Given the description of an element on the screen output the (x, y) to click on. 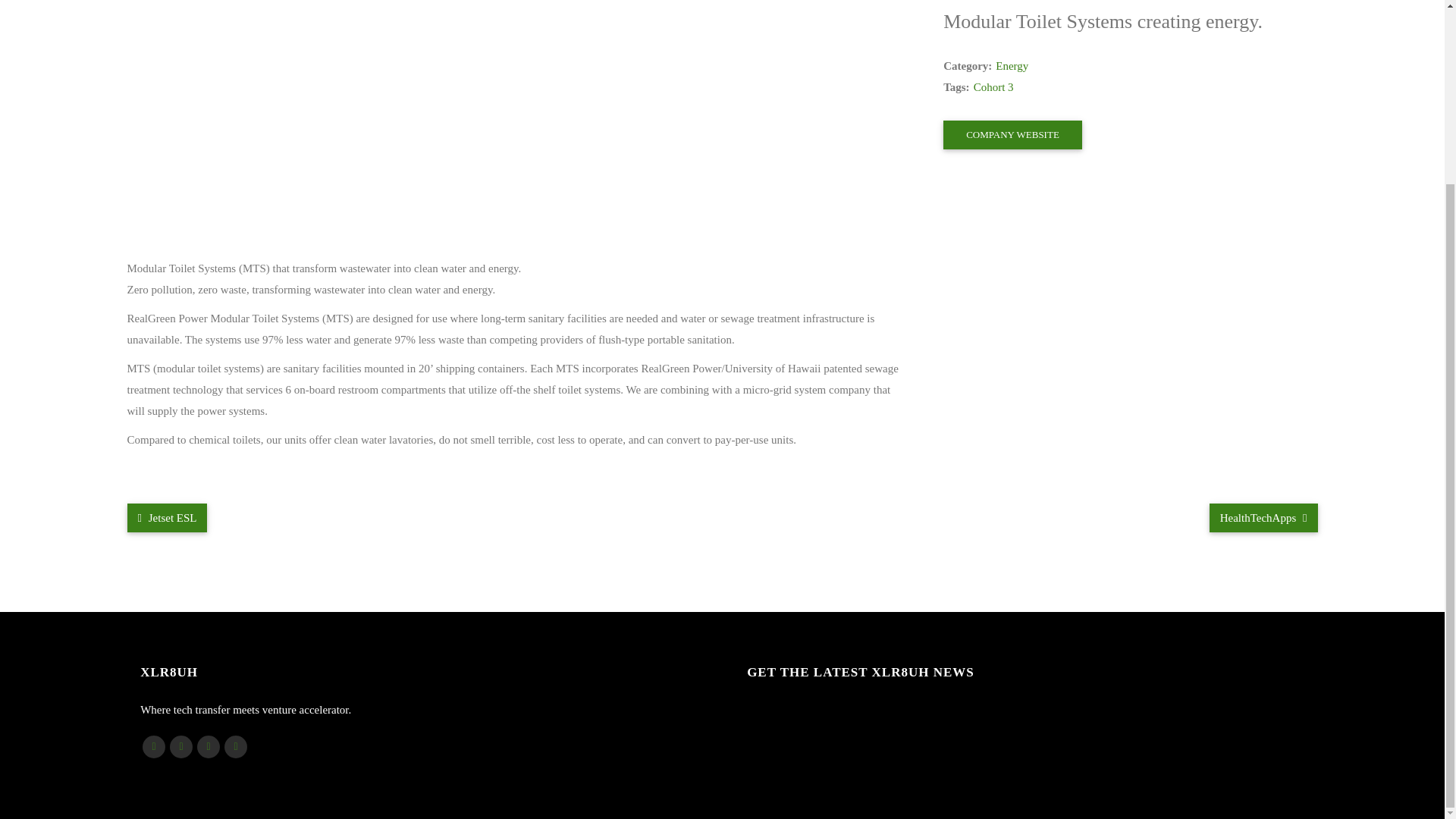
Jetset ESL (168, 517)
Energy (1011, 65)
Cohort 3 (993, 87)
HealthTechApps (1263, 517)
COMPANY WEBSITE (1012, 134)
